Given the description of an element on the screen output the (x, y) to click on. 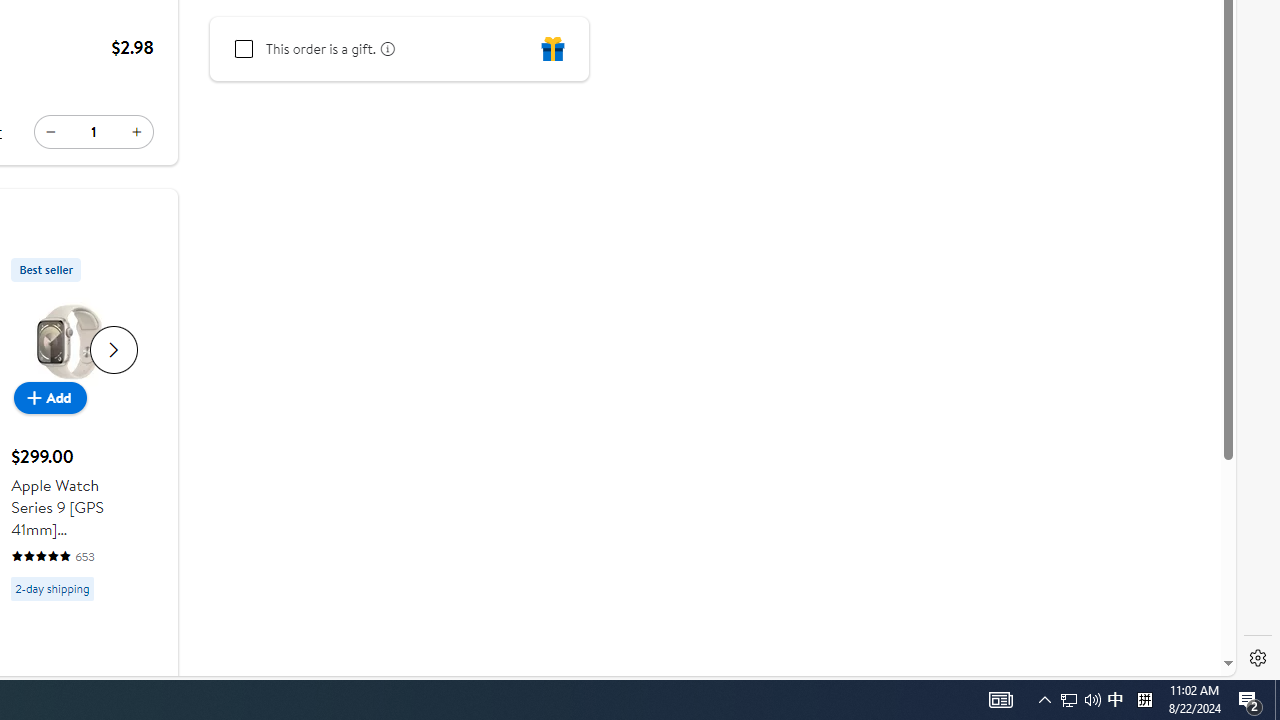
learn more about gifting (385, 48)
Next slide for horizontalScrollerRecommendations list (113, 348)
This order is a gift. (243, 49)
